Given the description of an element on the screen output the (x, y) to click on. 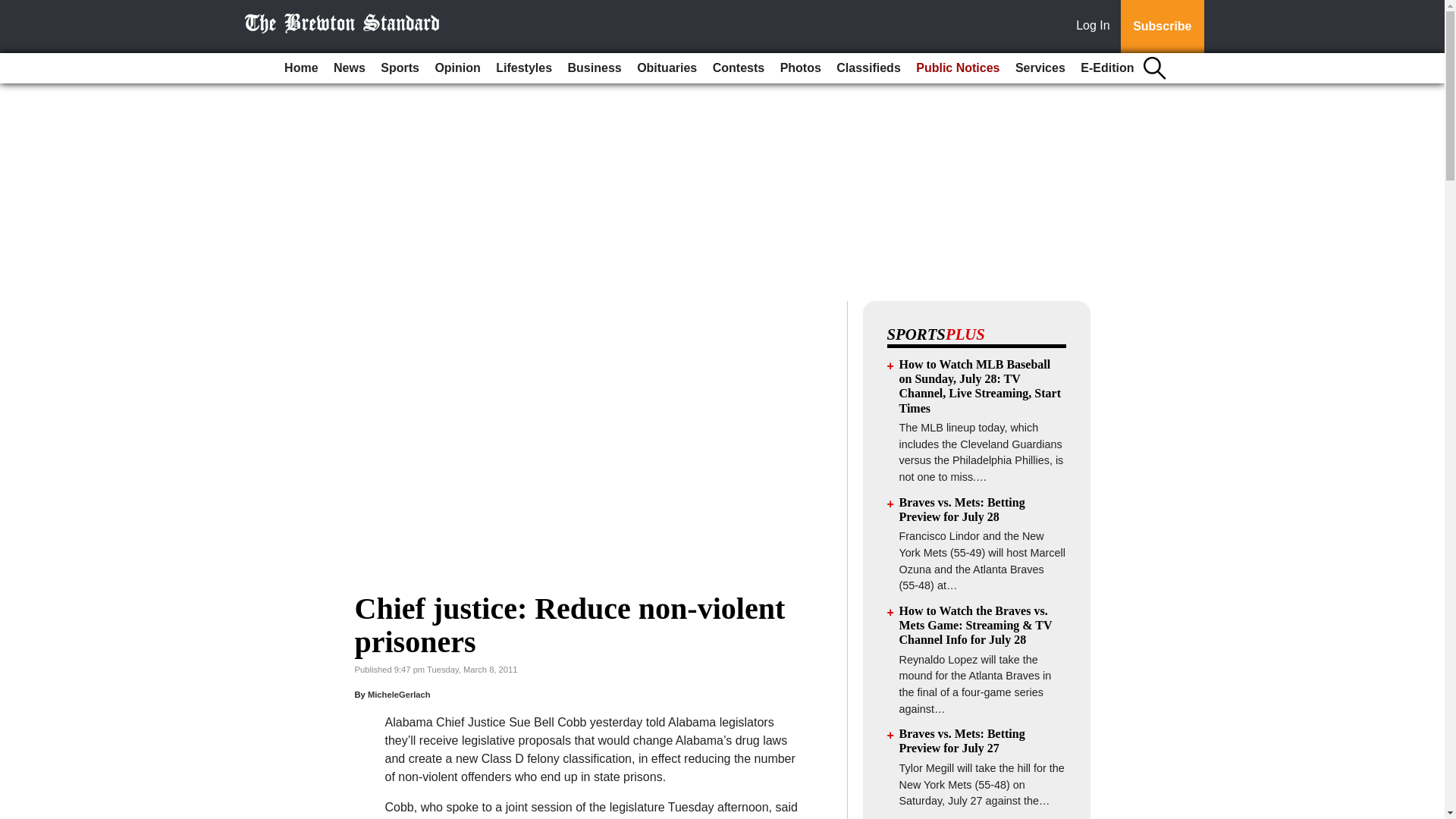
Photos (800, 68)
Services (1040, 68)
MicheleGerlach (399, 694)
Log In (1095, 26)
Contests (738, 68)
Business (594, 68)
Sports (399, 68)
Opinion (457, 68)
Home (300, 68)
Go (13, 9)
Public Notices (958, 68)
E-Edition (1107, 68)
Classifieds (867, 68)
News (349, 68)
Subscribe (1162, 26)
